Given the description of an element on the screen output the (x, y) to click on. 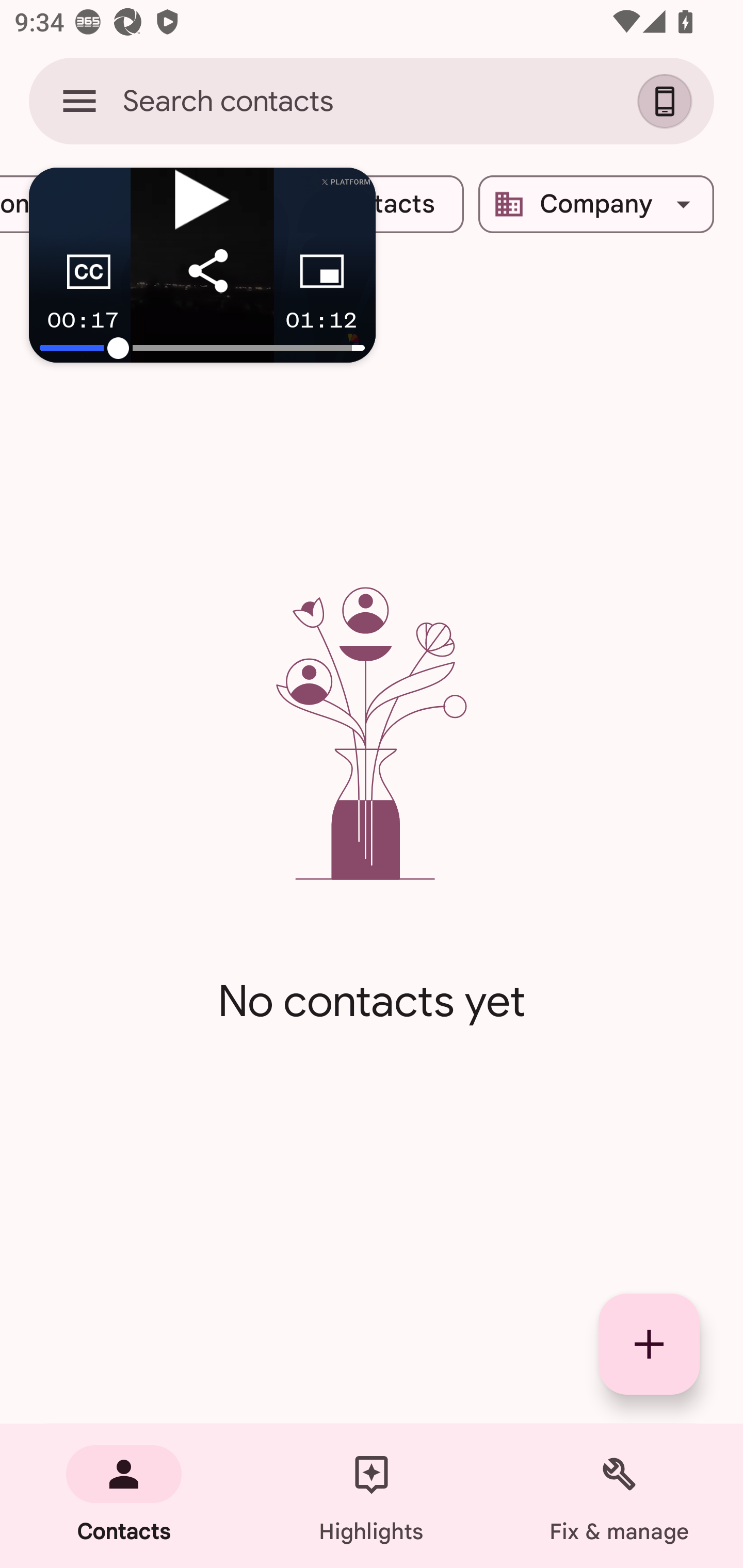
Open navigation drawer (79, 101)
Signed in as Device
Account and settings. (667, 101)
Company (596, 204)
Create contact (648, 1343)
Highlights (371, 1495)
Fix & manage (619, 1495)
